Given the description of an element on the screen output the (x, y) to click on. 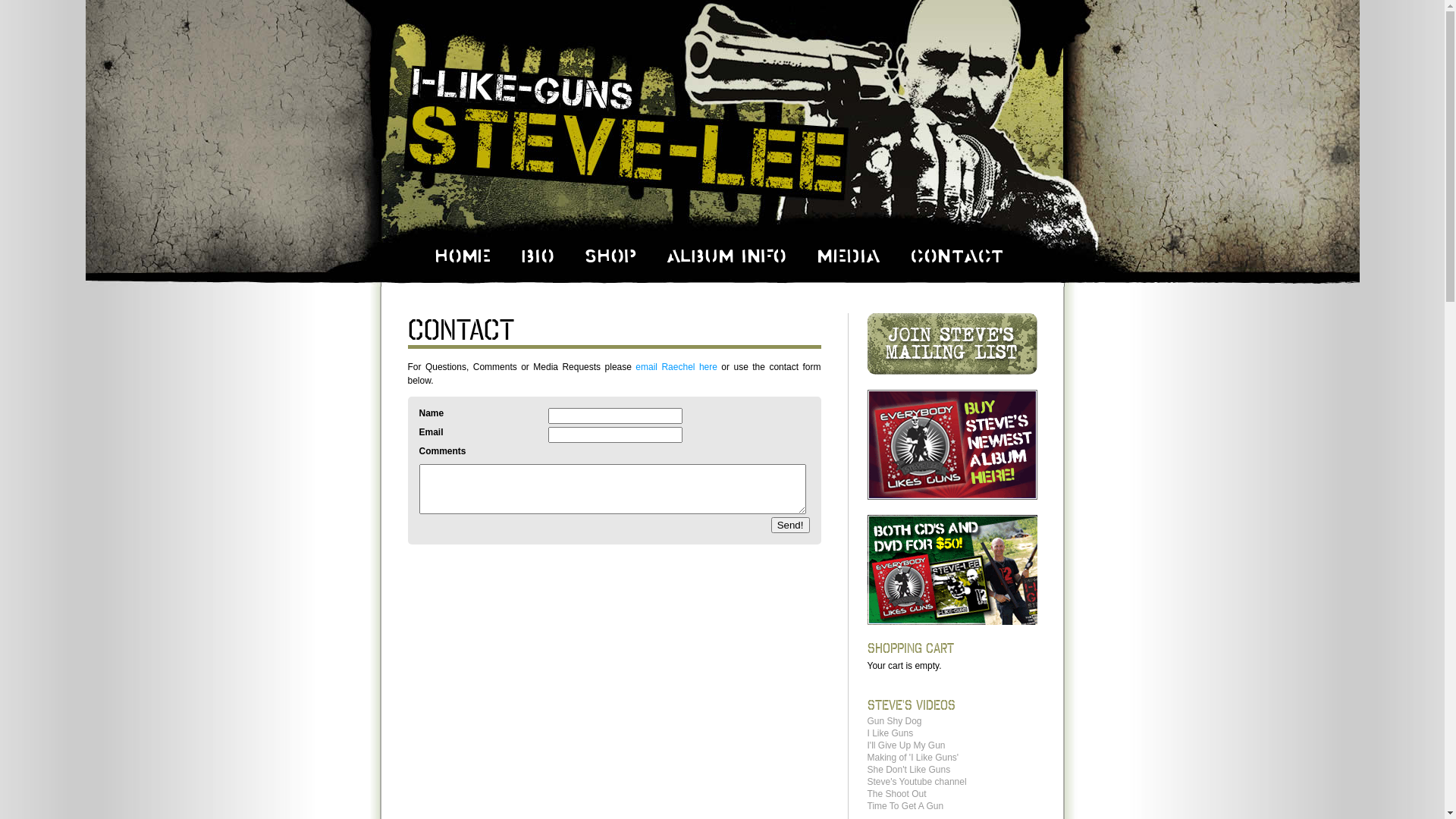
I'll Give Up My Gun Element type: text (906, 745)
Shop Element type: text (609, 254)
Home Element type: text (461, 254)
Steve's Youtube channel Element type: text (916, 781)
Send! Element type: text (790, 525)
Contact Element type: text (956, 254)
Gun Shy Dog Element type: text (894, 720)
I Like Guns Element type: text (890, 733)
Steve Lee - Everybody Likes Guns Element type: text (952, 444)
Time To Get A Gun Element type: text (905, 805)
email Raechel here Element type: text (676, 366)
Making of 'I Like Guns' Element type: text (913, 757)
Album Info Element type: text (725, 254)
Media Element type: text (847, 254)
Both CD's and DVD for $50! Element type: text (952, 569)
Contact Element type: text (460, 328)
The Shoot Out Element type: text (896, 793)
She Don't Like Guns Element type: text (908, 769)
Bio Element type: text (536, 254)
